Given the description of an element on the screen output the (x, y) to click on. 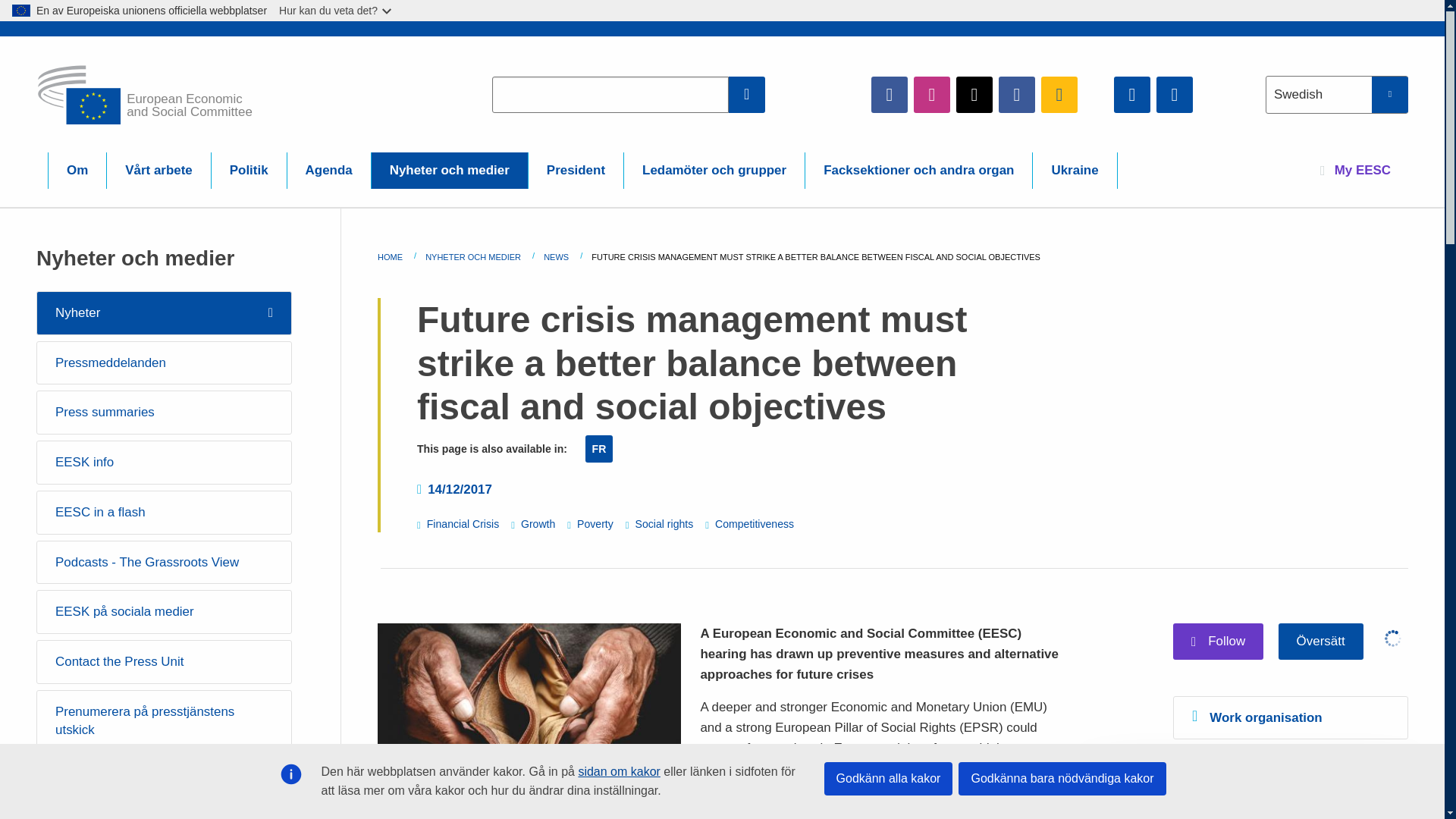
Hur kan du veta det? (335, 10)
Search EESC Website (747, 94)
My EESC (1355, 170)
sidan om kakor (619, 771)
